Given the description of an element on the screen output the (x, y) to click on. 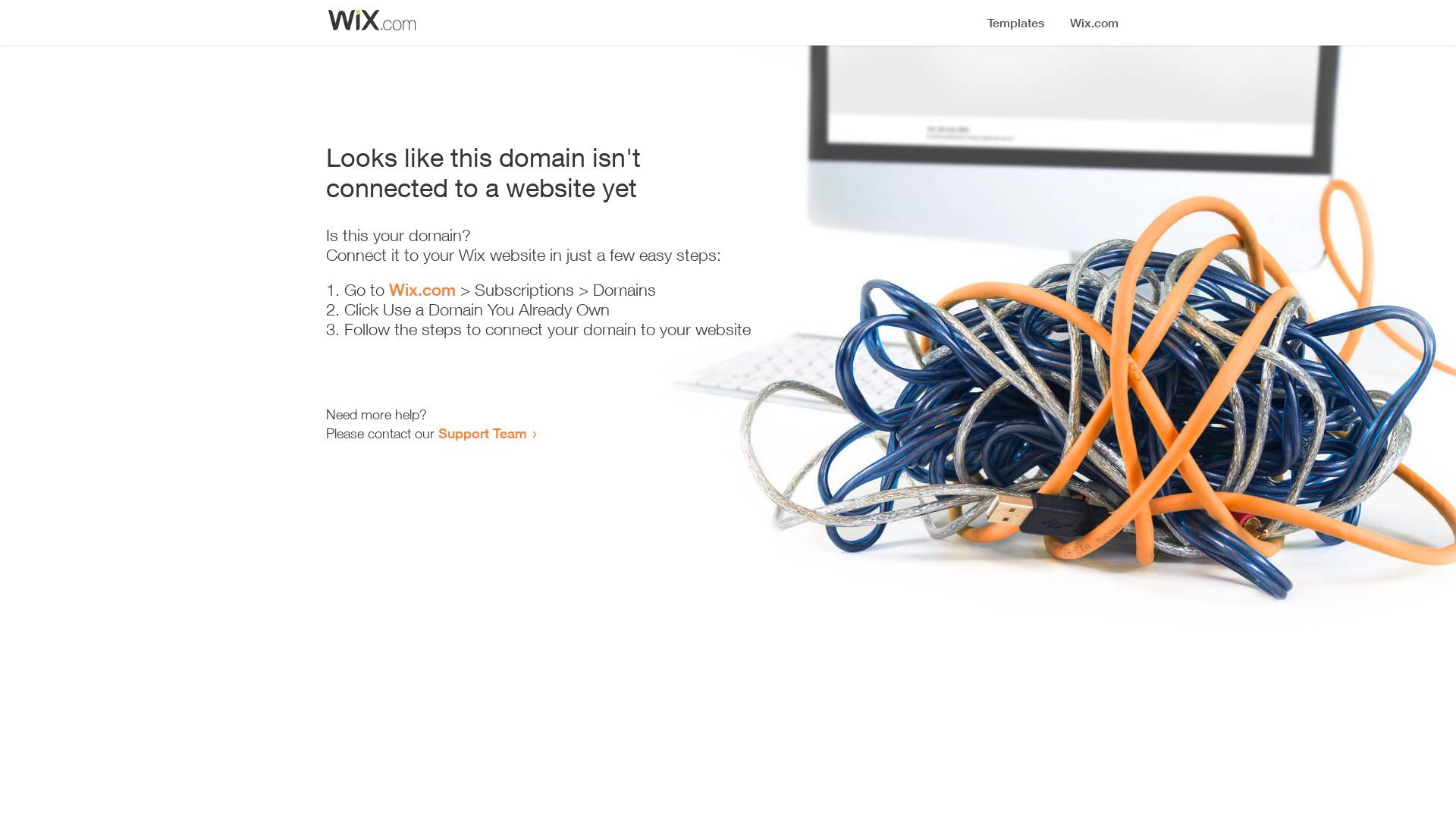
Support Team Element type: text (482, 432)
Wix.com Element type: text (422, 289)
